Given the description of an element on the screen output the (x, y) to click on. 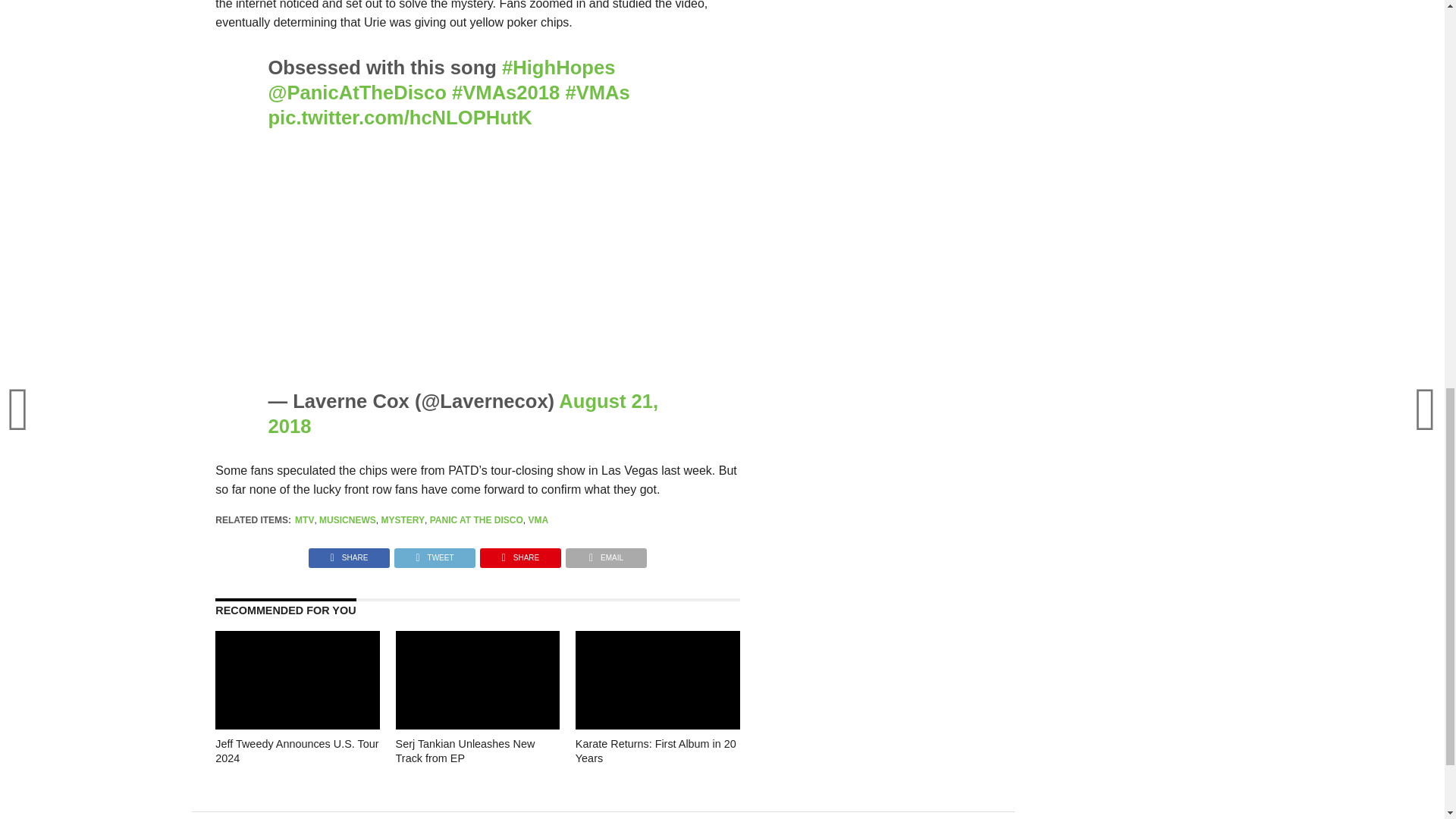
BarcelonaSpain-Oct15JeffTweedyLeadSingerOf - X96 (297, 712)
Tweet This Post (434, 553)
Jeff Tweedy Announces U.S. Tour 2024 (297, 790)
Share on Facebook (349, 553)
Pin This Post (520, 553)
